Given the description of an element on the screen output the (x, y) to click on. 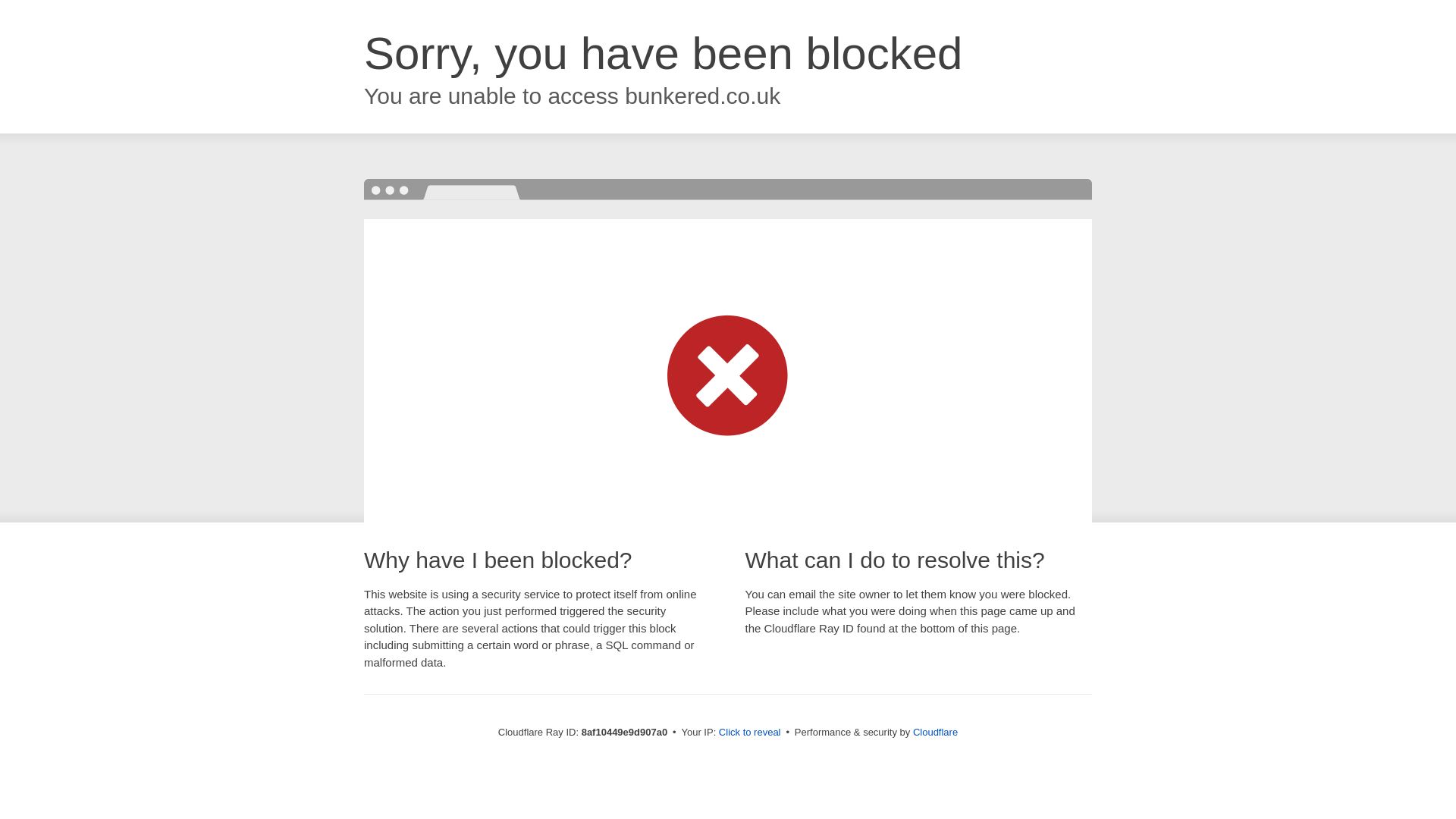
Click to reveal (749, 732)
Cloudflare (935, 731)
